Given the description of an element on the screen output the (x, y) to click on. 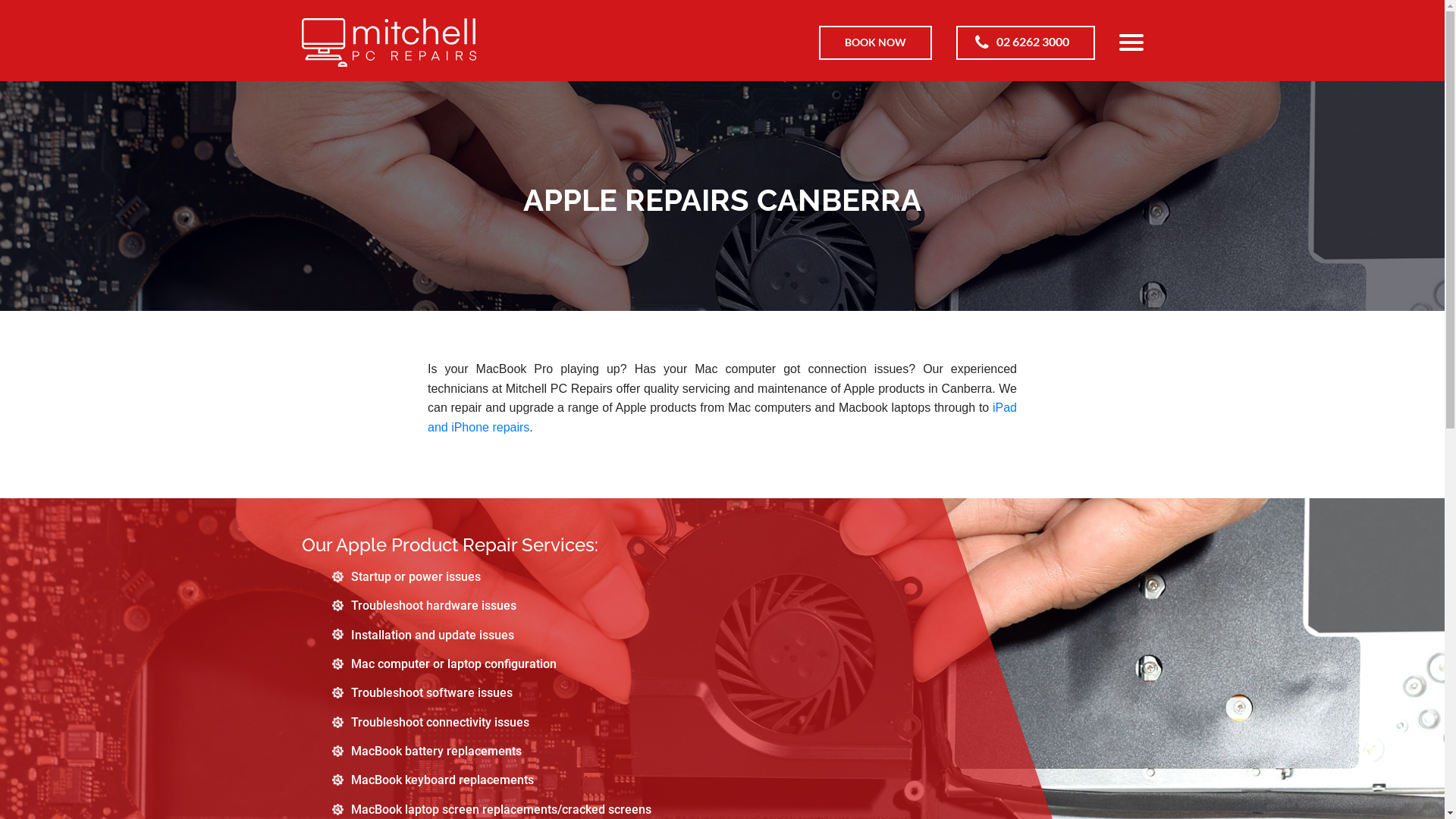
iPad and iPhone repairs Element type: text (721, 417)
 02 6262 3000 Element type: text (1024, 42)
BOOK NOW Element type: text (875, 42)
